Given the description of an element on the screen output the (x, y) to click on. 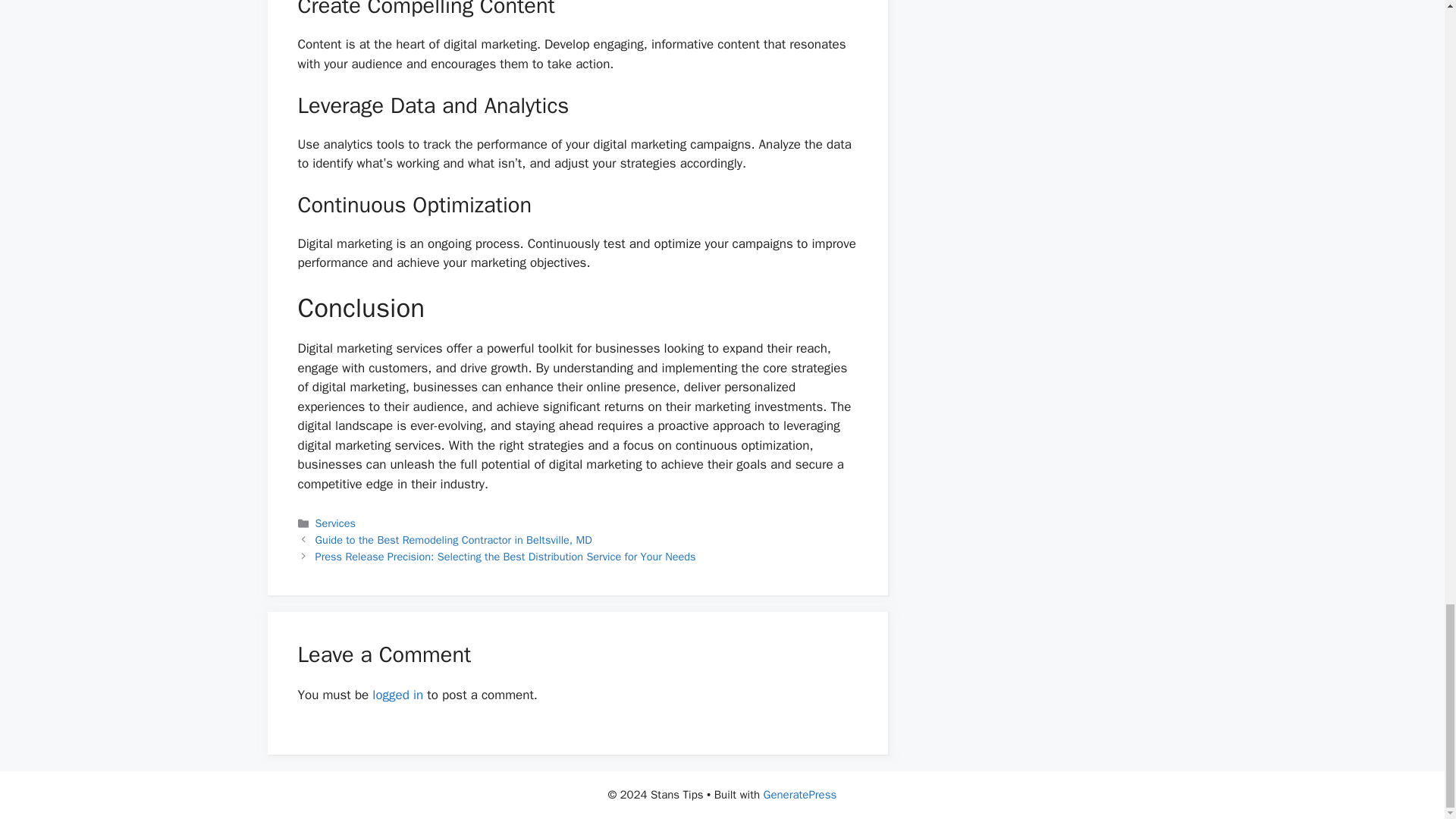
Services (335, 522)
GeneratePress (799, 794)
Guide to the Best Remodeling Contractor in Beltsville, MD (453, 540)
logged in (397, 694)
